Given the description of an element on the screen output the (x, y) to click on. 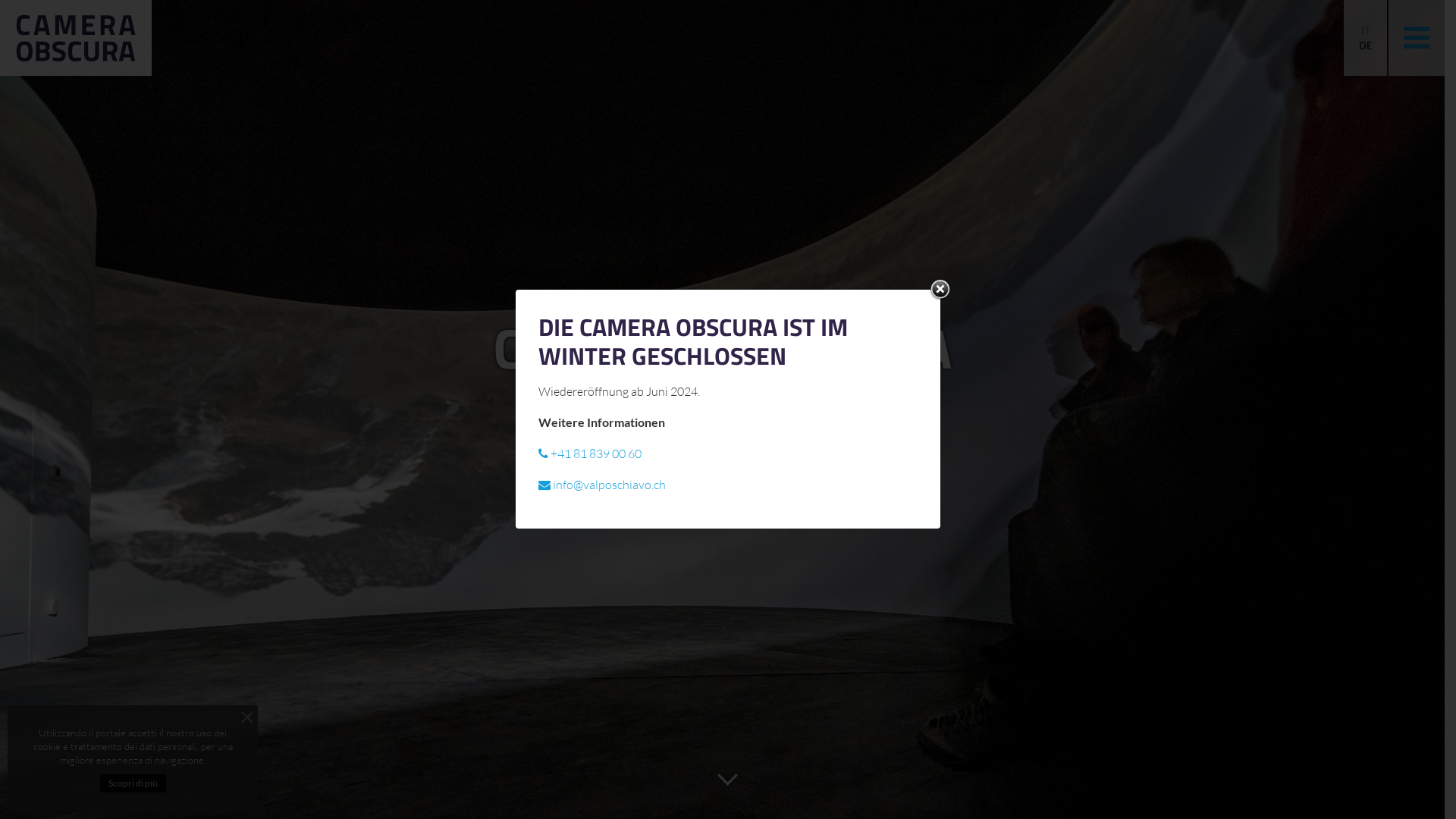
+41 81 839 00 60 Element type: text (589, 453)
IT Element type: text (1364, 30)
TICKET KAUFEN Element type: text (722, 485)
Close Element type: hover (939, 289)
info@valposchiavo.ch Element type: text (601, 484)
DE Element type: text (1364, 45)
